Given the description of an element on the screen output the (x, y) to click on. 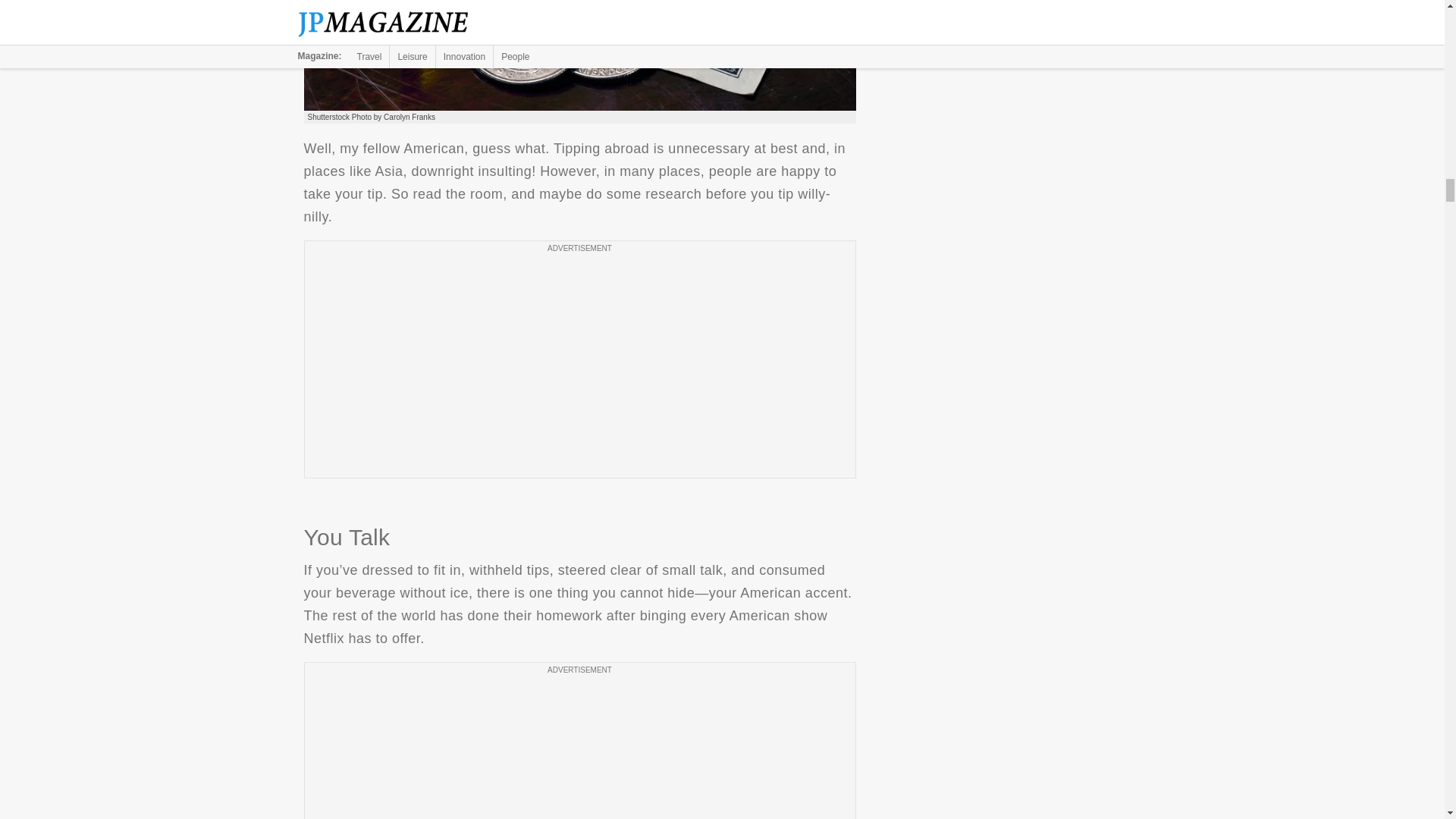
You're a Generous Tipper (579, 55)
